Given the description of an element on the screen output the (x, y) to click on. 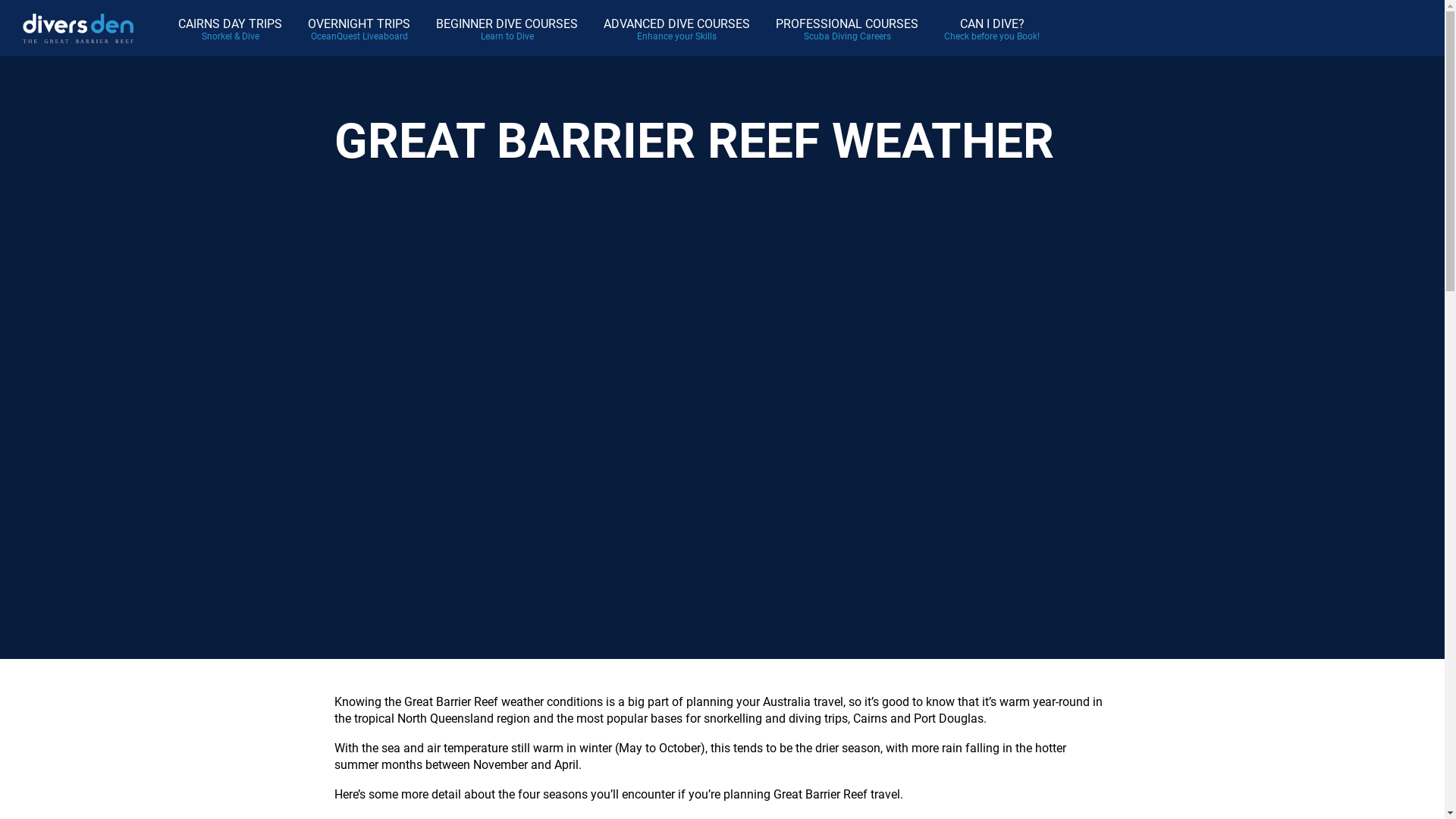
CAN I DIVE?
Check before you Book! Element type: text (991, 28)
OVERNIGHT TRIPS
OceanQuest Liveaboard Element type: text (358, 28)
ADVANCED DIVE COURSES
Enhance your Skills Element type: text (676, 28)
CAIRNS DAY TRIPS
Snorkel & Dive Element type: text (229, 28)
PROFESSIONAL COURSES
Scuba Diving Careers Element type: text (846, 28)
BEGINNER DIVE COURSES
Learn to Dive Element type: text (506, 28)
